Given the description of an element on the screen output the (x, y) to click on. 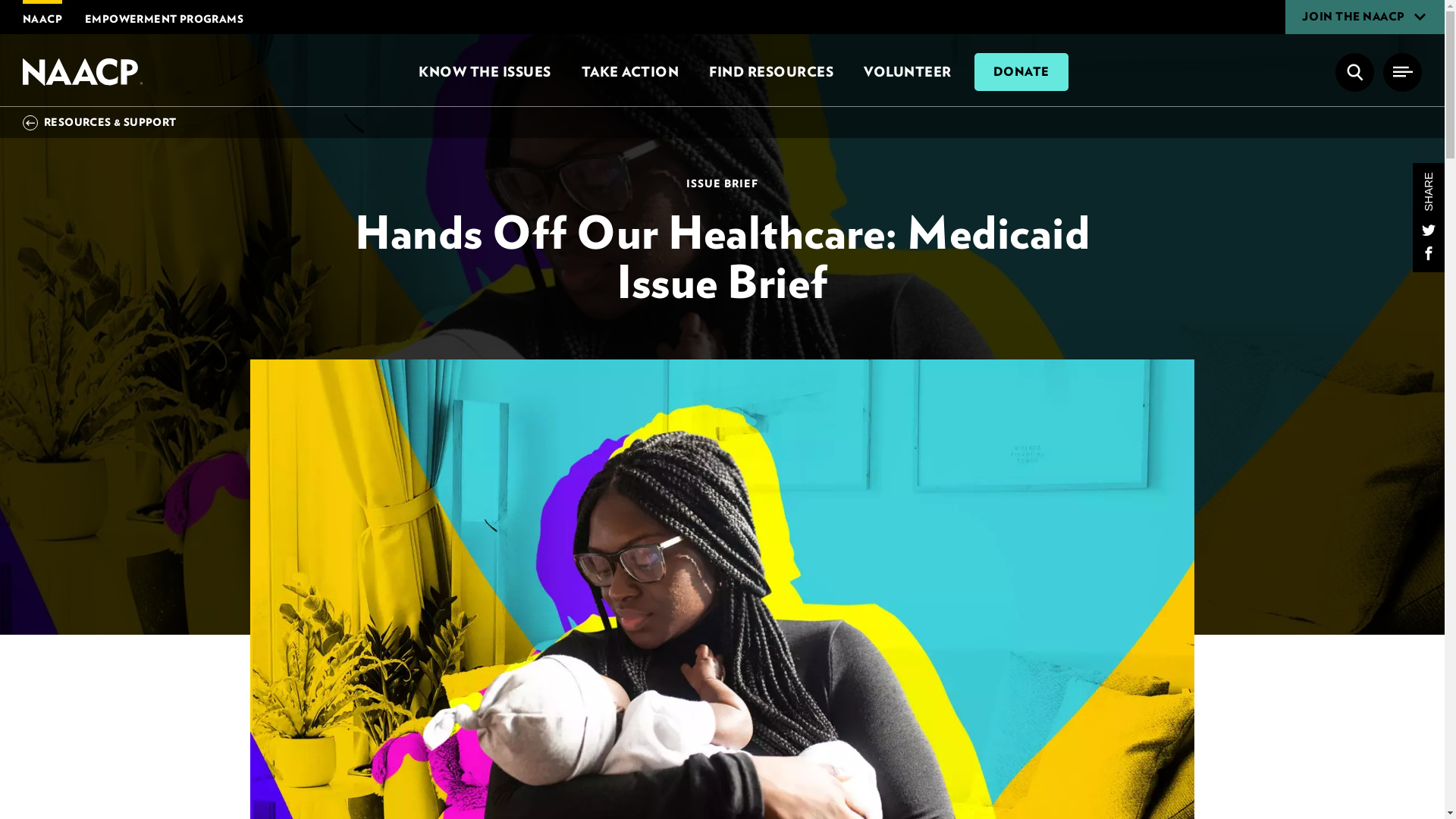
All Issues (484, 71)
Action Center (630, 71)
NAACP (84, 71)
